Given the description of an element on the screen output the (x, y) to click on. 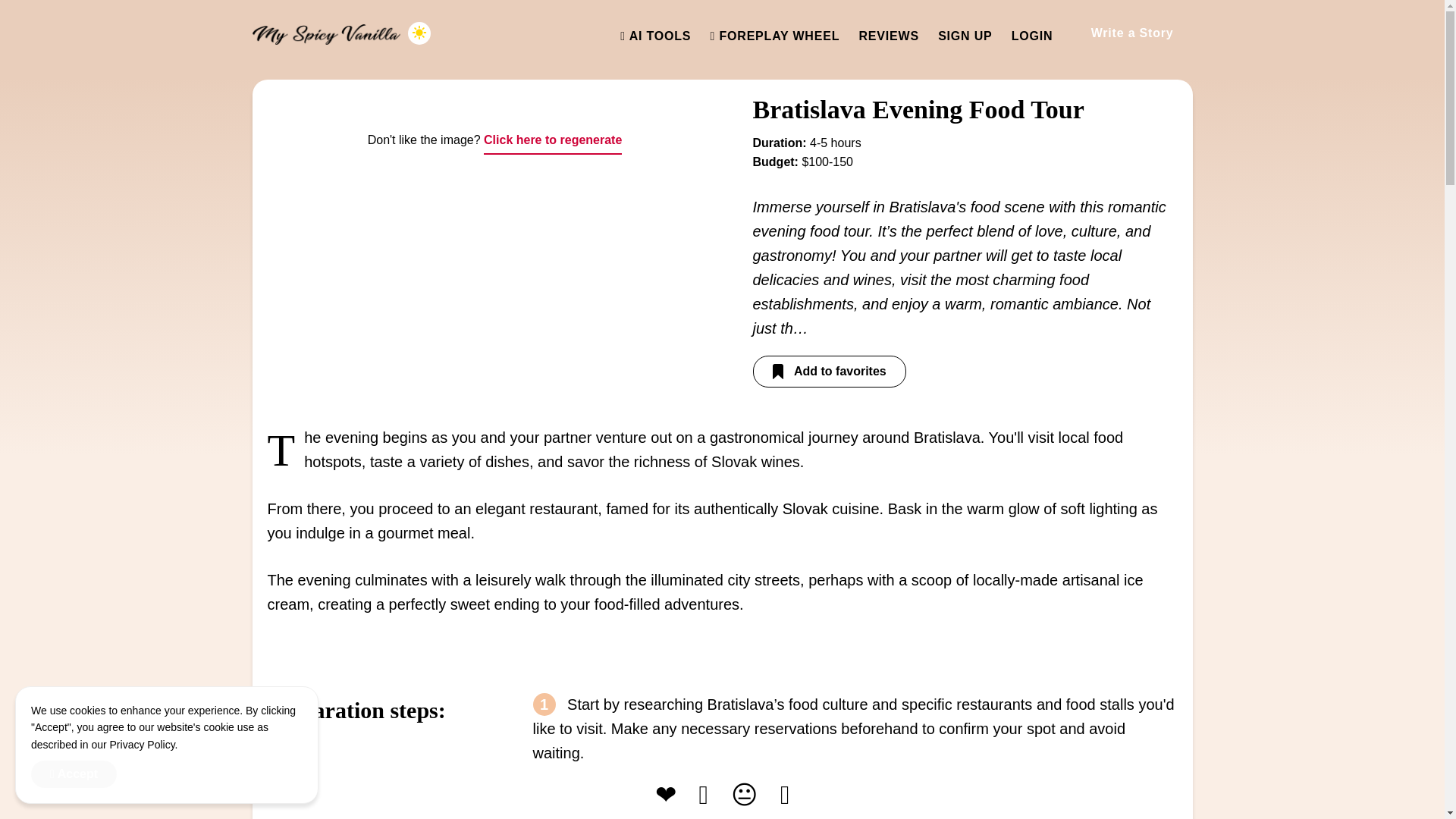
Click here to regenerate (552, 140)
SIGN UP (964, 35)
REVIEWS (888, 35)
Write a Story (1131, 32)
LOGIN (1031, 35)
Add to favorites (828, 371)
